Given the description of an element on the screen output the (x, y) to click on. 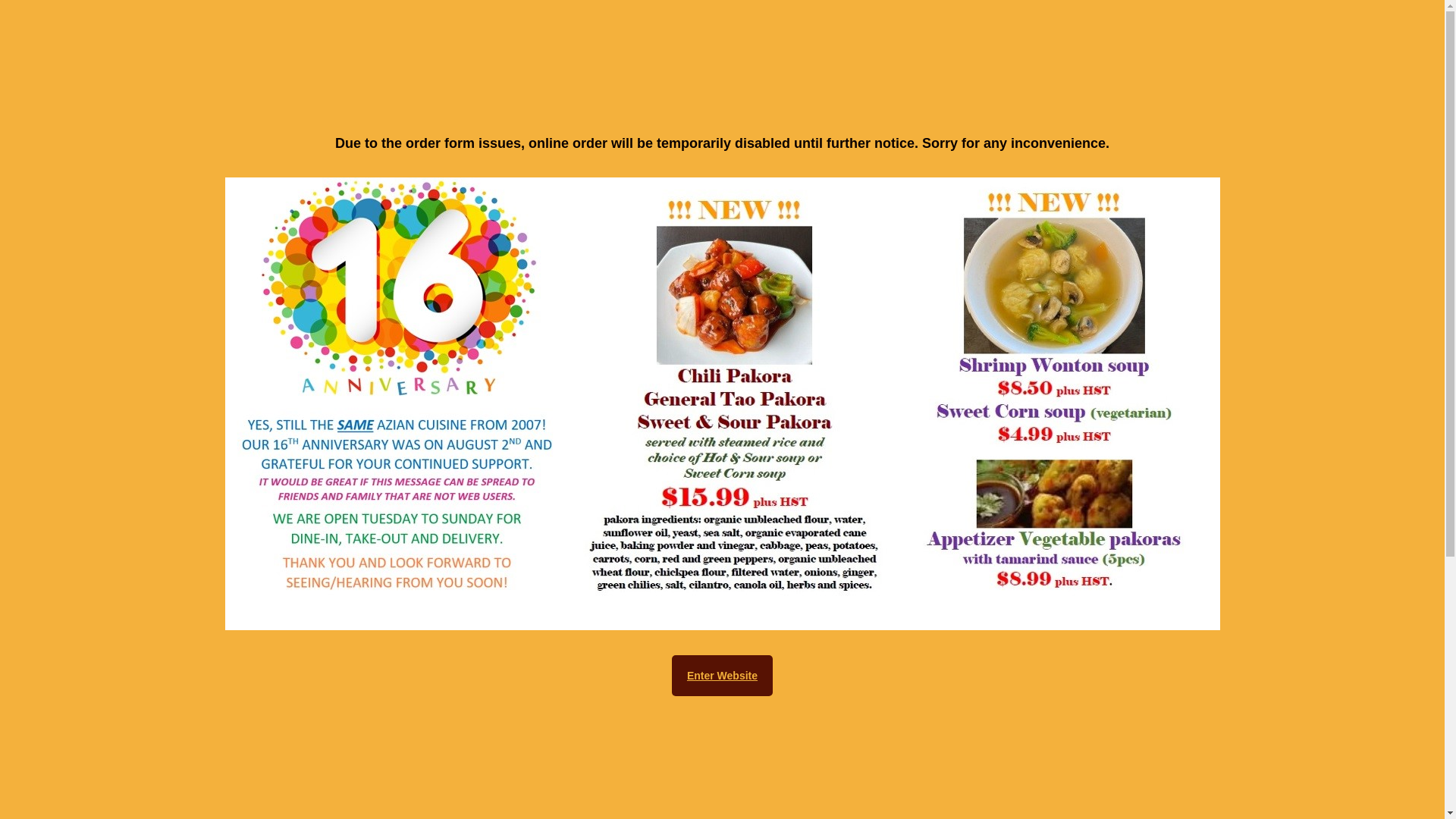
Enter Website Element type: text (721, 675)
